Given the description of an element on the screen output the (x, y) to click on. 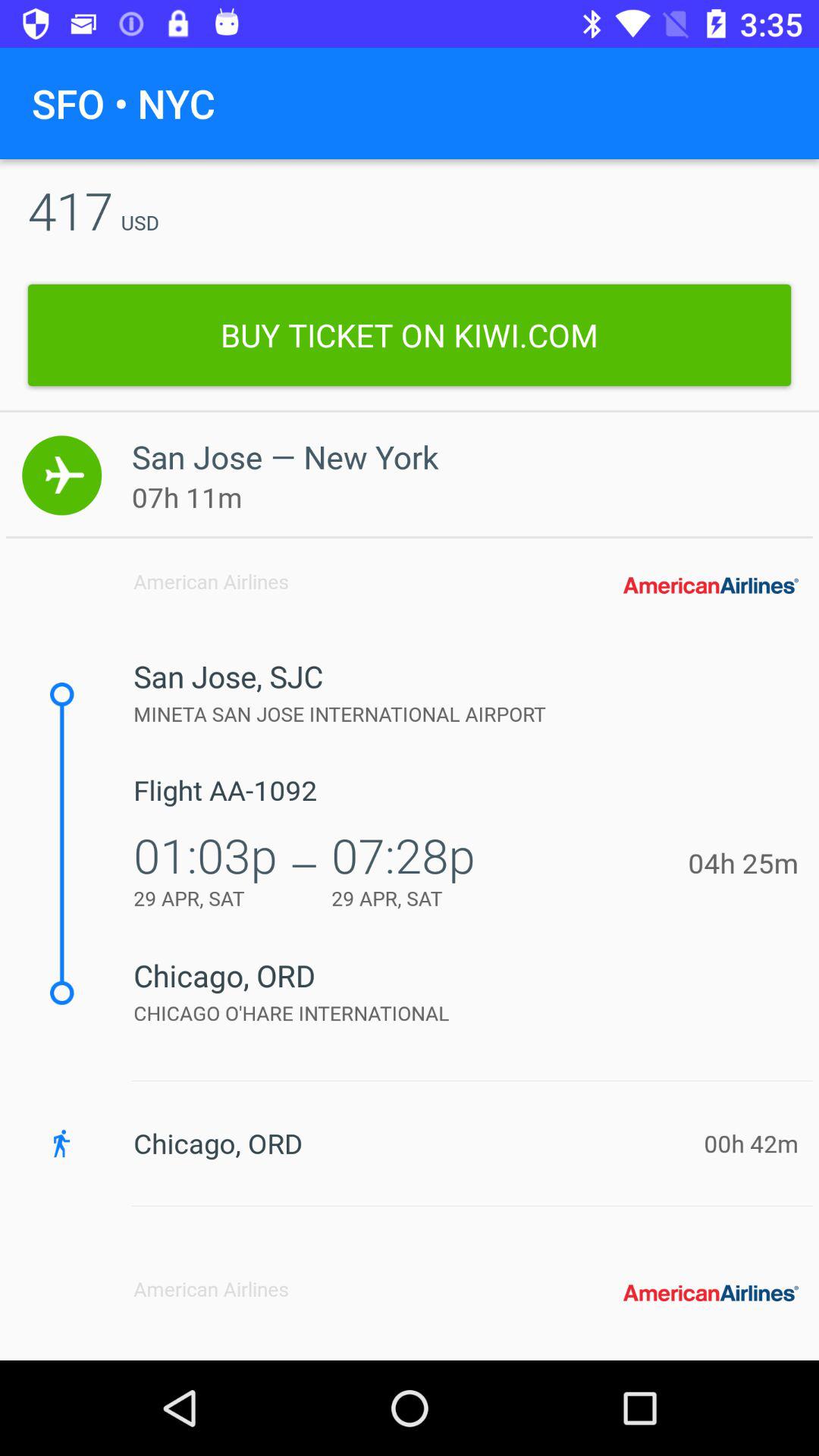
swipe to the buy ticket on (409, 335)
